Given the description of an element on the screen output the (x, y) to click on. 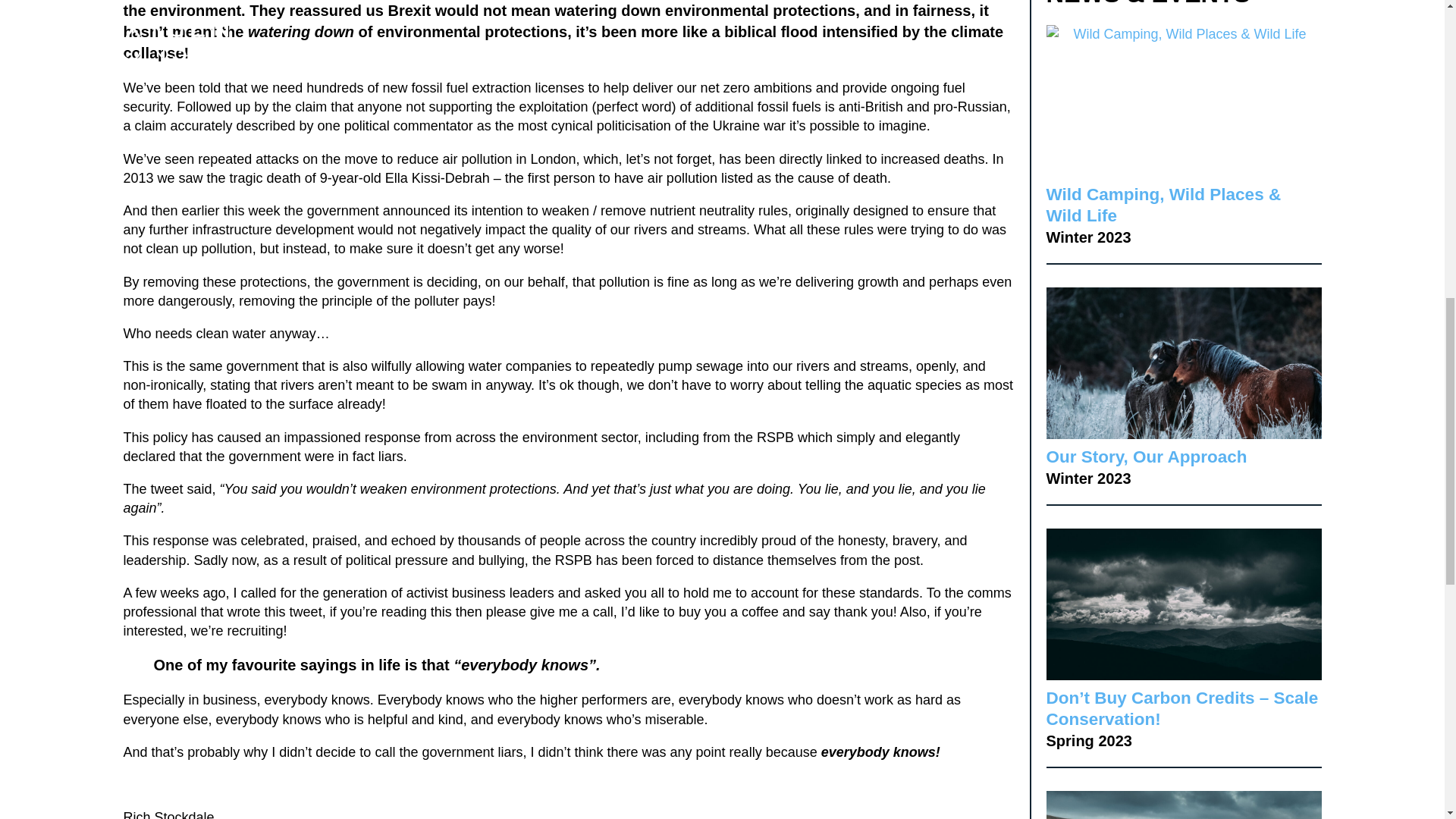
Our Story, Our Approach (1146, 456)
